Given the description of an element on the screen output the (x, y) to click on. 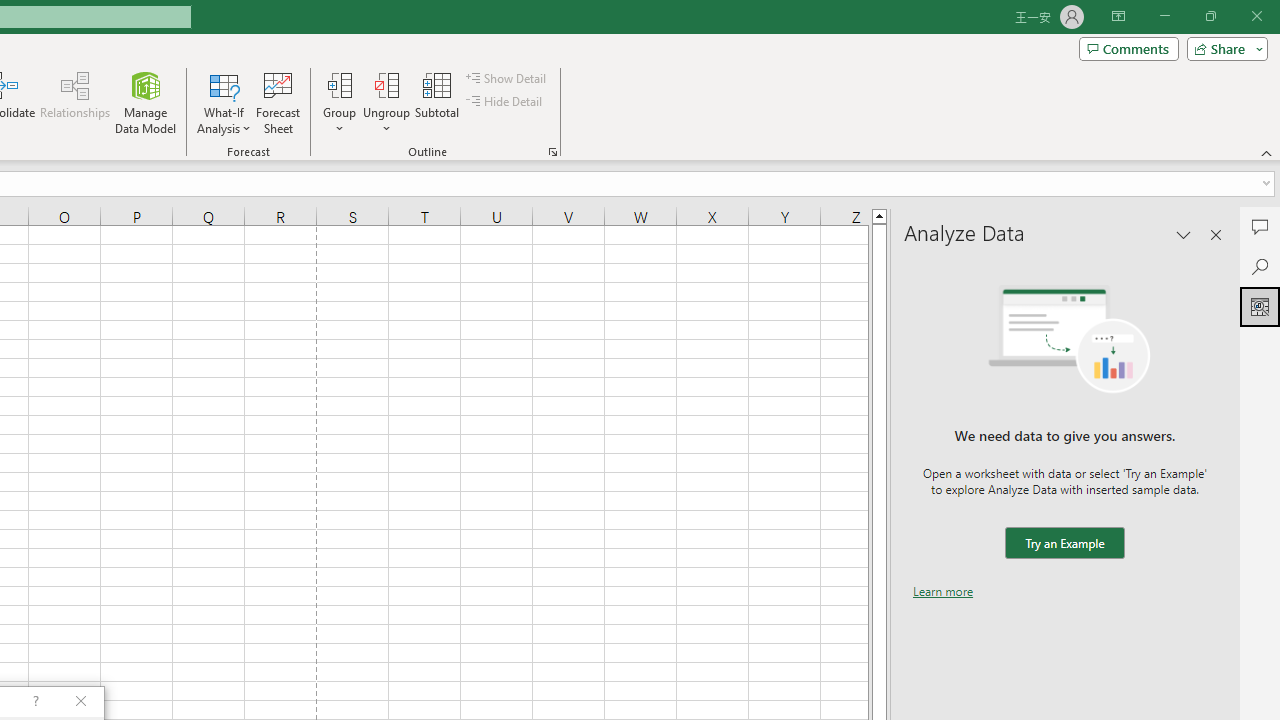
We need data to give you answers. Try an Example (1064, 543)
Group and Outline Settings (552, 151)
What-If Analysis (223, 102)
Manage Data Model (145, 102)
Show Detail (507, 78)
Forecast Sheet (278, 102)
Hide Detail (505, 101)
Relationships (75, 102)
